Given the description of an element on the screen output the (x, y) to click on. 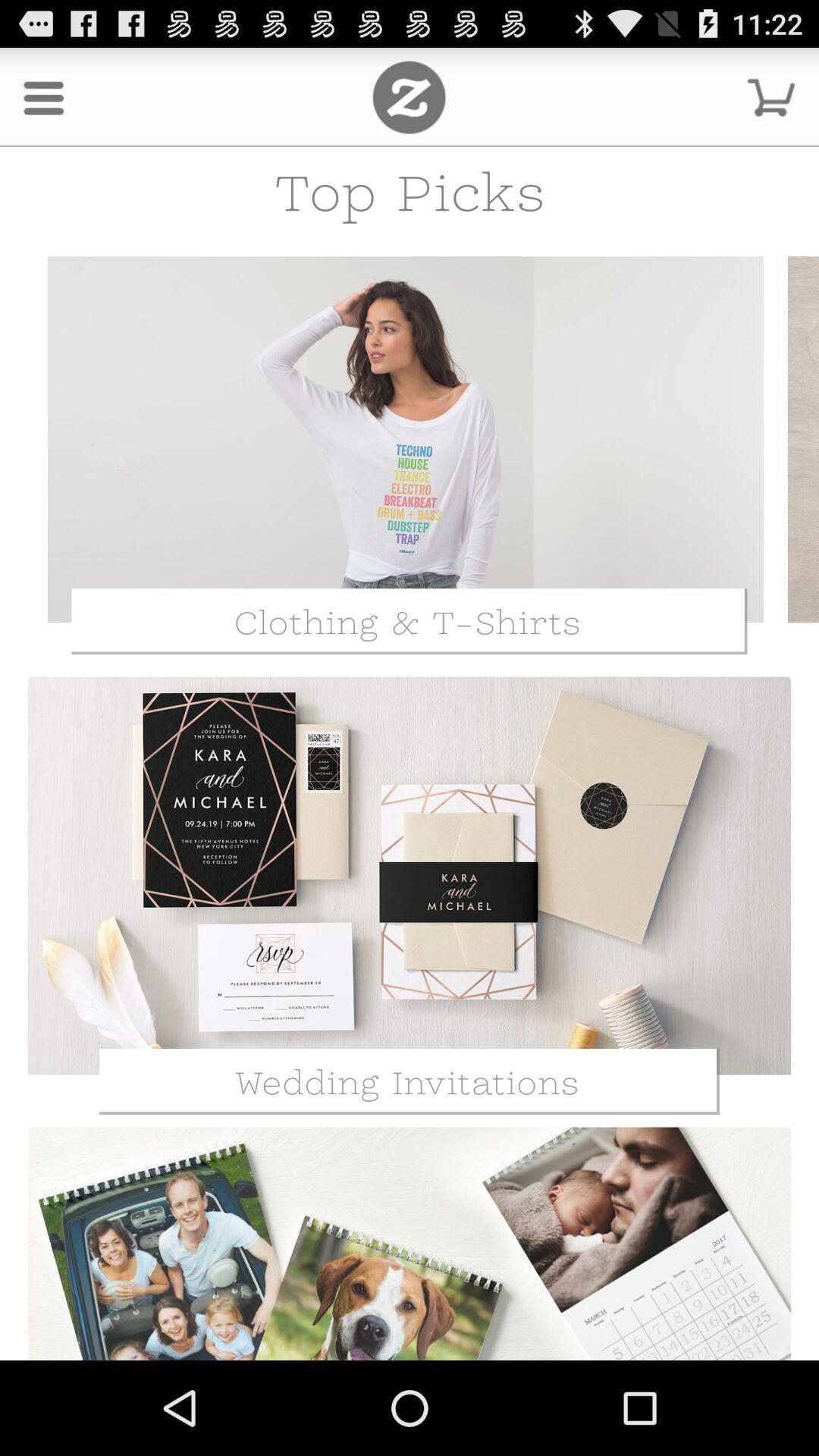
go to app menu (408, 97)
